Given the description of an element on the screen output the (x, y) to click on. 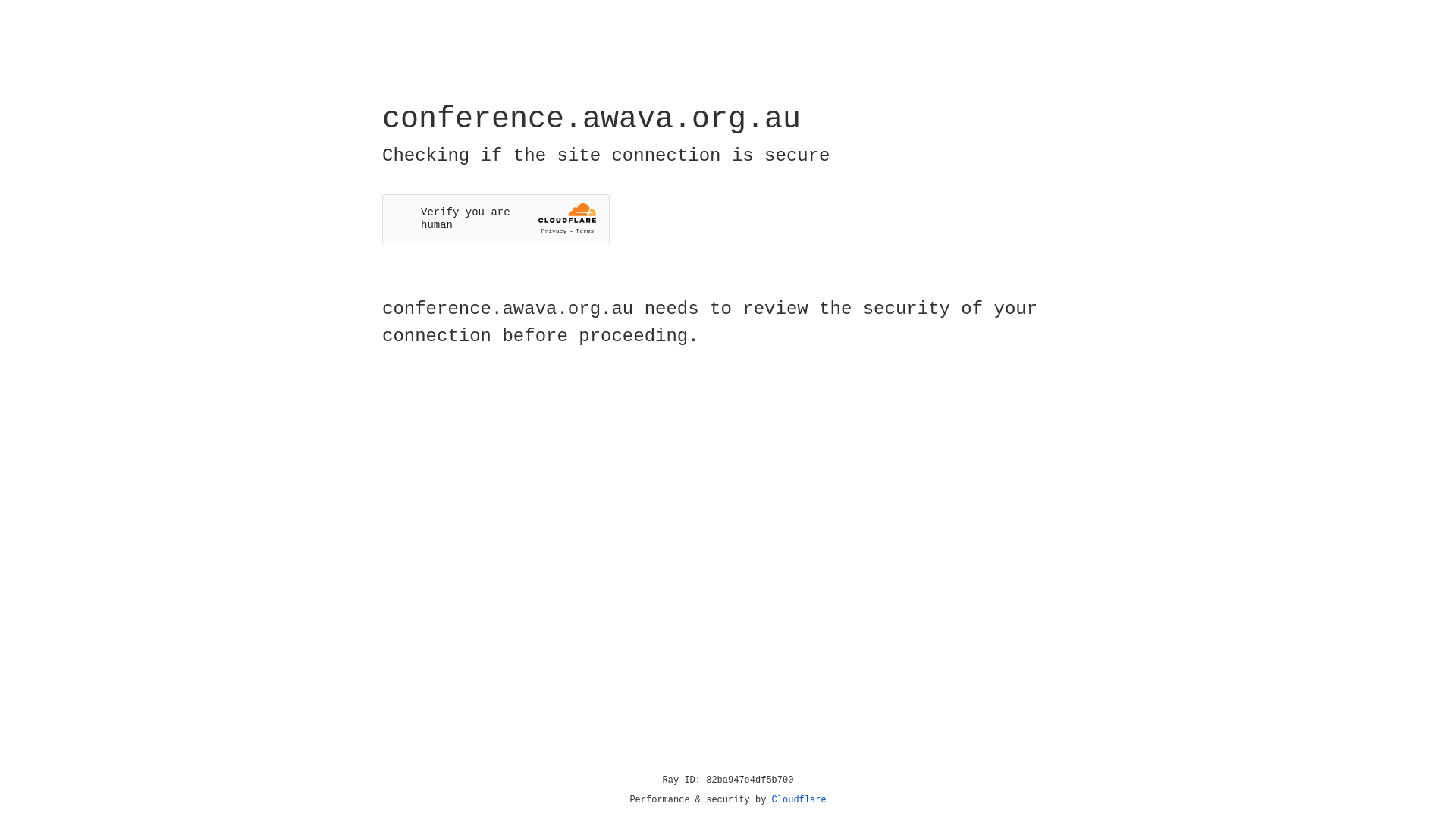
Cloudflare Element type: text (798, 799)
Widget containing a Cloudflare security challenge Element type: hover (495, 218)
